Given the description of an element on the screen output the (x, y) to click on. 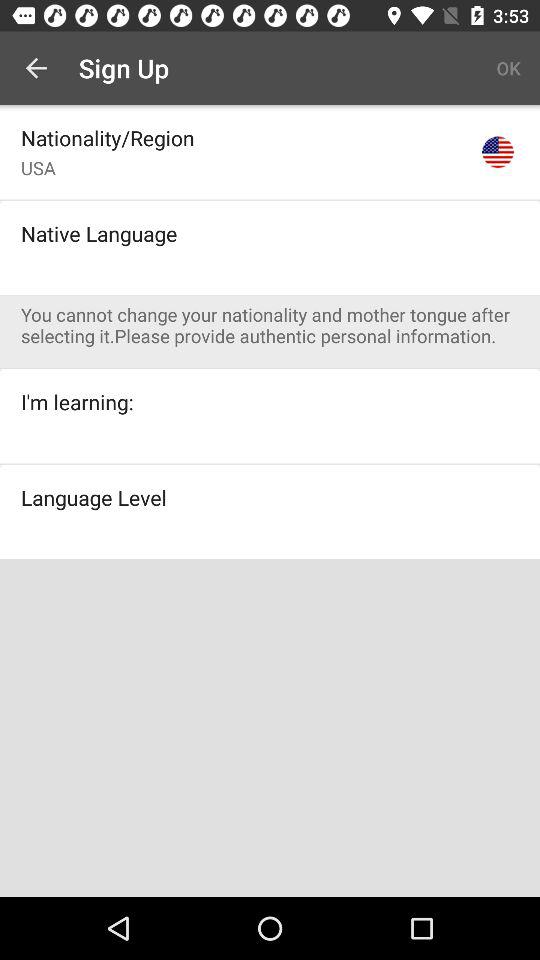
choose the item to the right of sign up (508, 67)
